Given the description of an element on the screen output the (x, y) to click on. 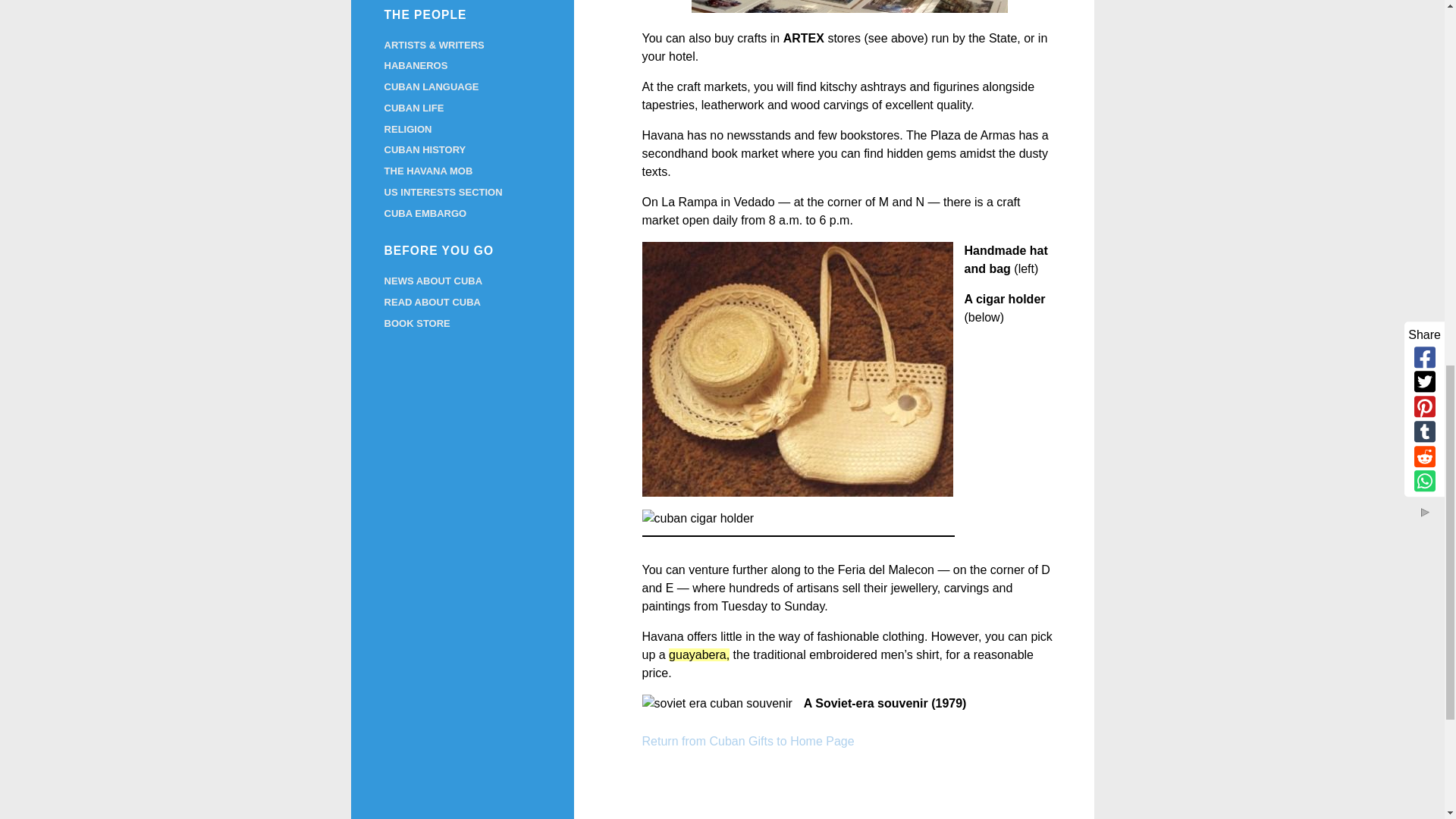
Return from Cuban Gifts to Home Page (748, 740)
cuban arts and crafts (849, 6)
cuban handmade hat and bag (797, 368)
soviet era cuban souvenir (717, 703)
cuban cigar holder (698, 518)
